Given the description of an element on the screen output the (x, y) to click on. 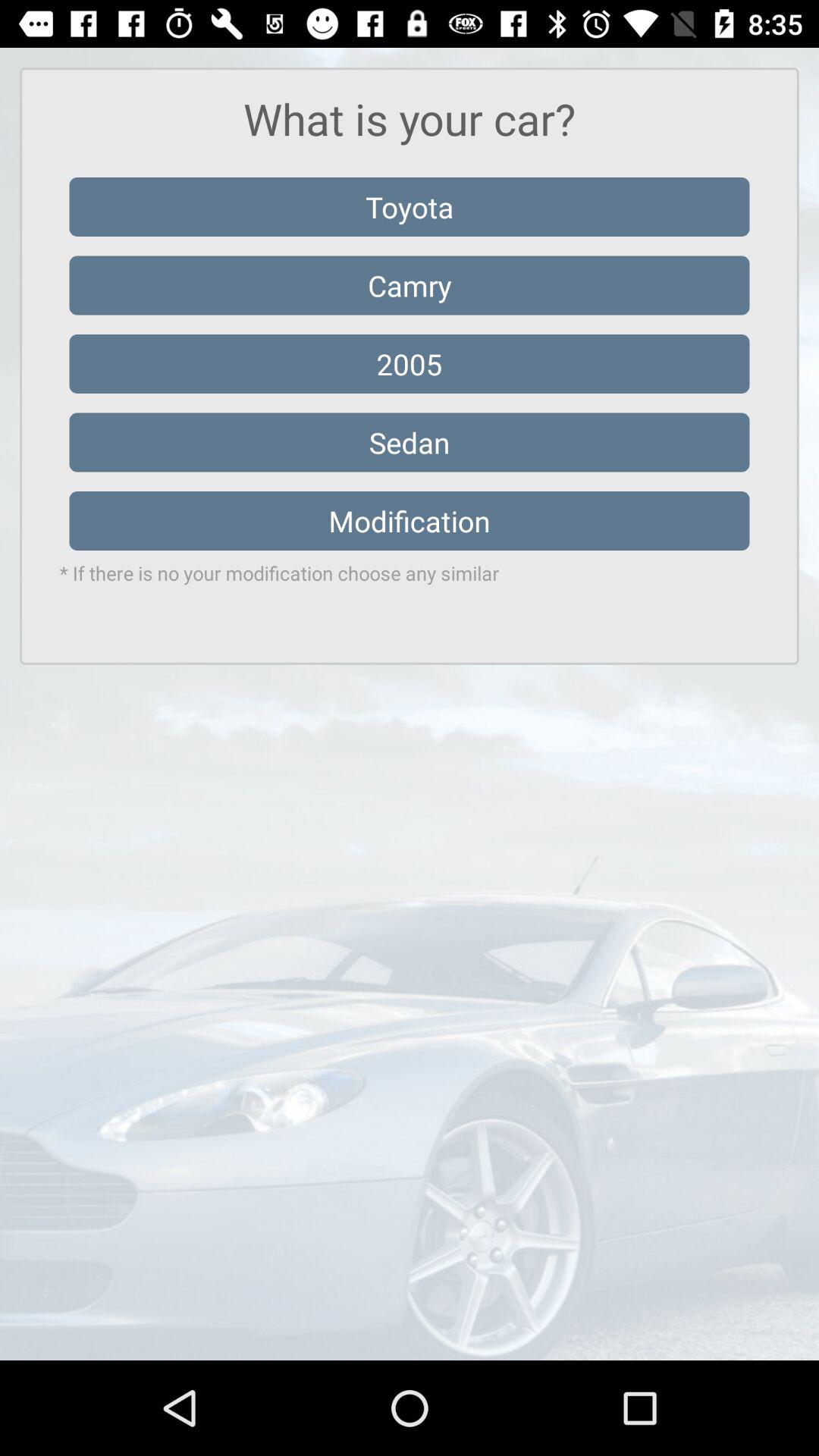
flip to the sedan icon (409, 442)
